Given the description of an element on the screen output the (x, y) to click on. 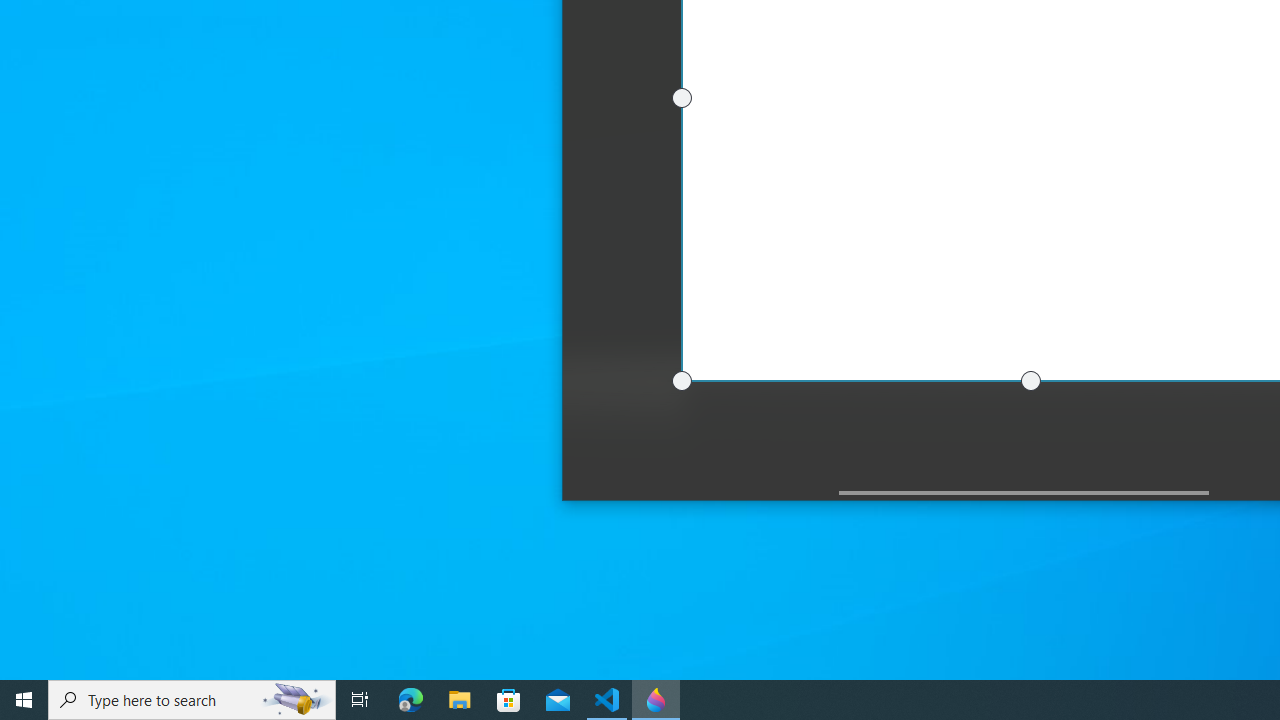
Paint 3D - 1 running window (656, 699)
Horizontal Large Decrease (700, 492)
